Given the description of an element on the screen output the (x, y) to click on. 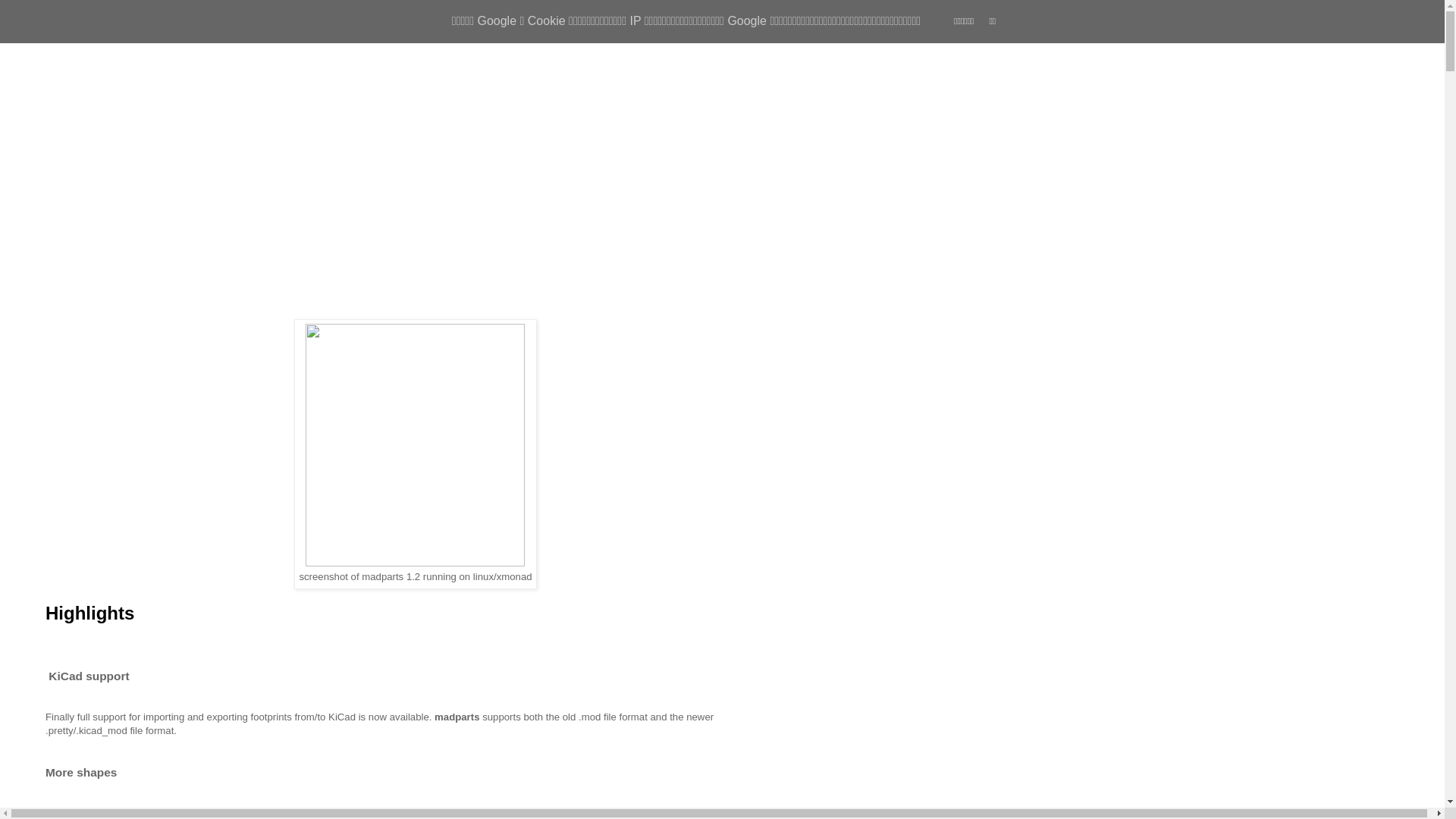
starlight Element type: text (89, 67)
madparts release 1.2 Element type: text (123, 240)
new madparts 1.2 Element type: text (251, 269)
